Given the description of an element on the screen output the (x, y) to click on. 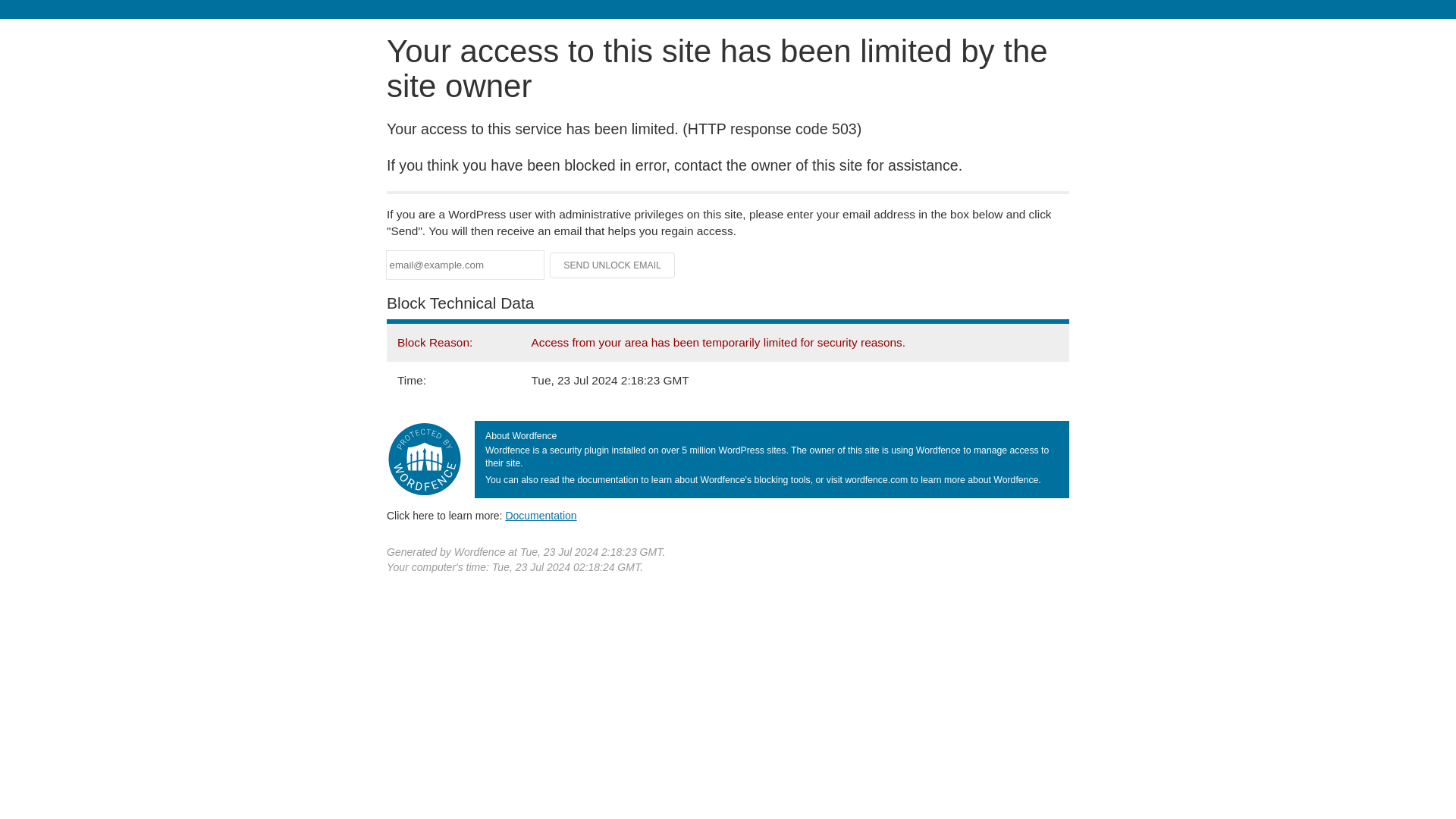
Send Unlock Email (612, 265)
Documentation (540, 515)
Send Unlock Email (612, 265)
